Given the description of an element on the screen output the (x, y) to click on. 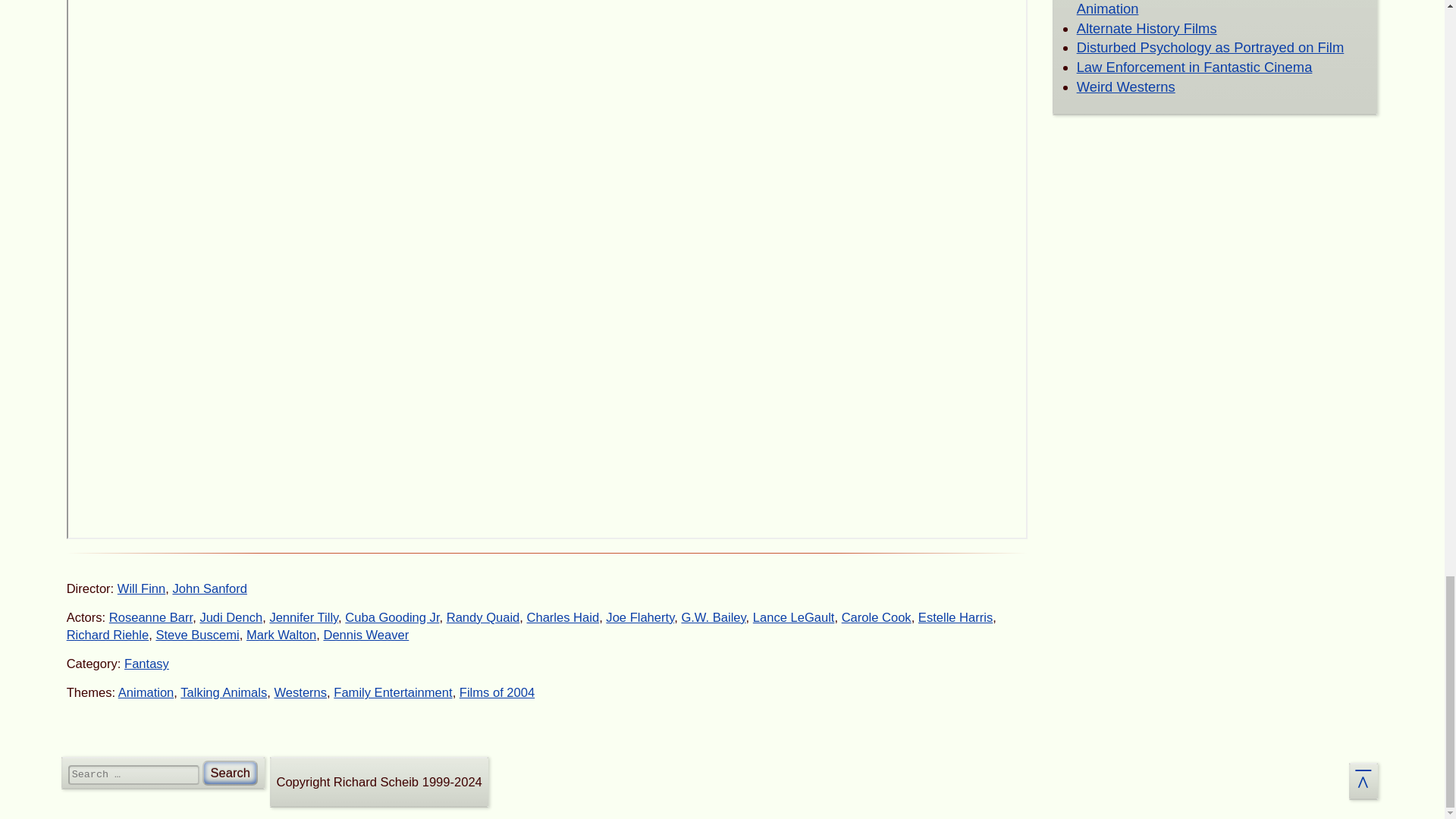
Search (229, 772)
Will Finn (141, 588)
Search (229, 772)
